Given the description of an element on the screen output the (x, y) to click on. 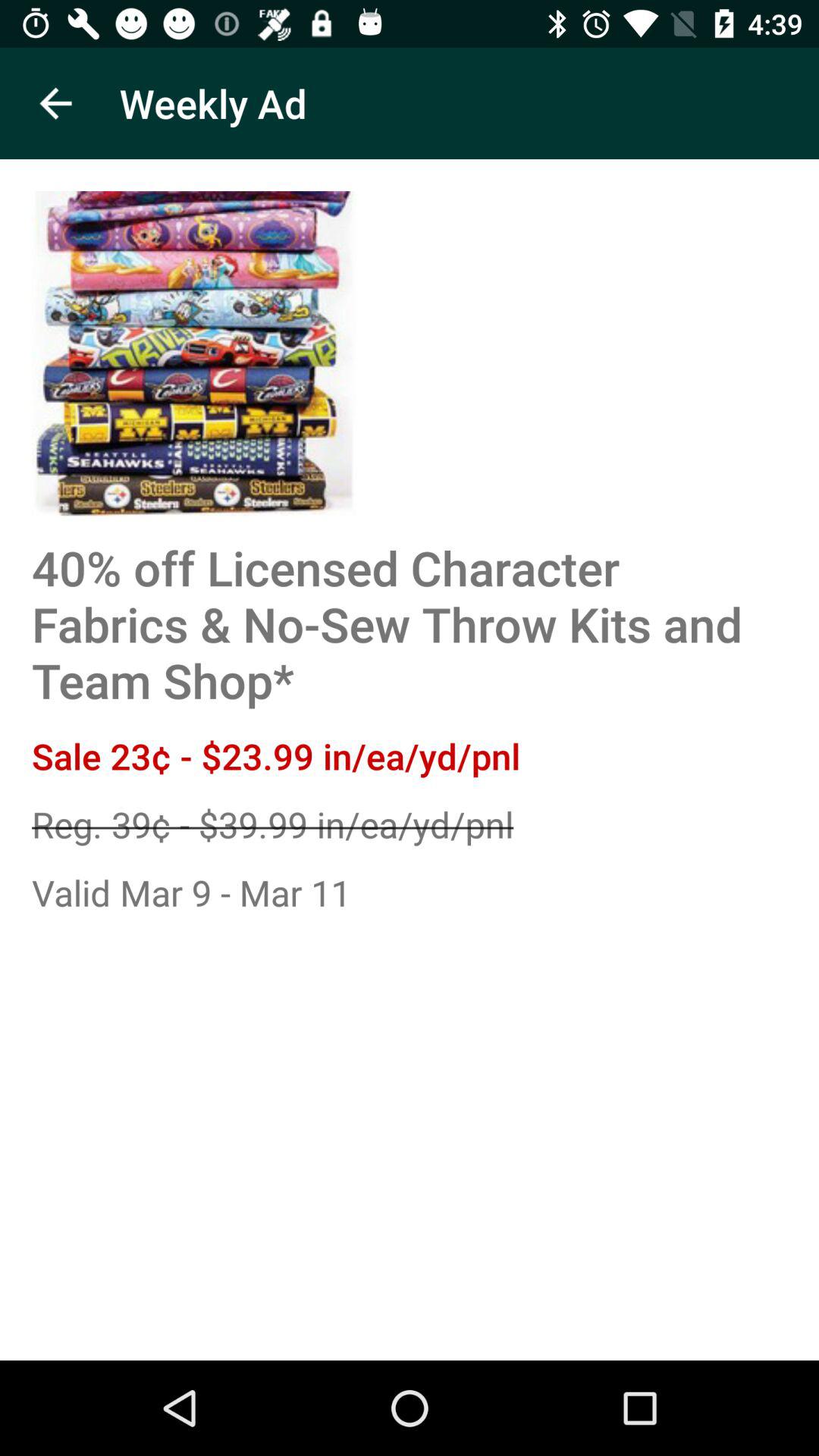
turn on icon to the left of the weekly ad icon (55, 103)
